Given the description of an element on the screen output the (x, y) to click on. 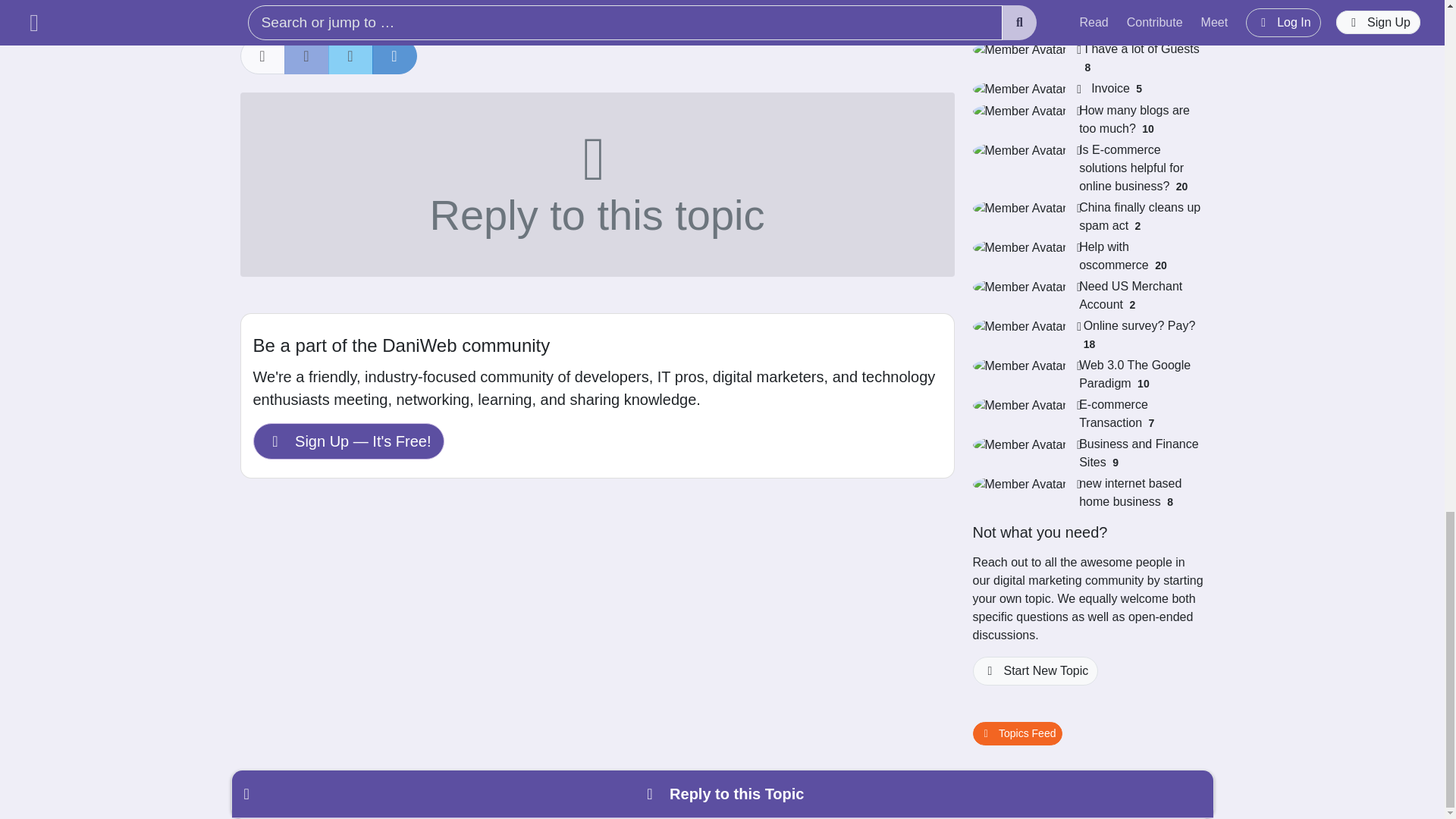
Reply to this topic (596, 184)
LinkedIn (393, 55)
Share (261, 55)
Twitter (349, 55)
Facebook (306, 55)
